Given the description of an element on the screen output the (x, y) to click on. 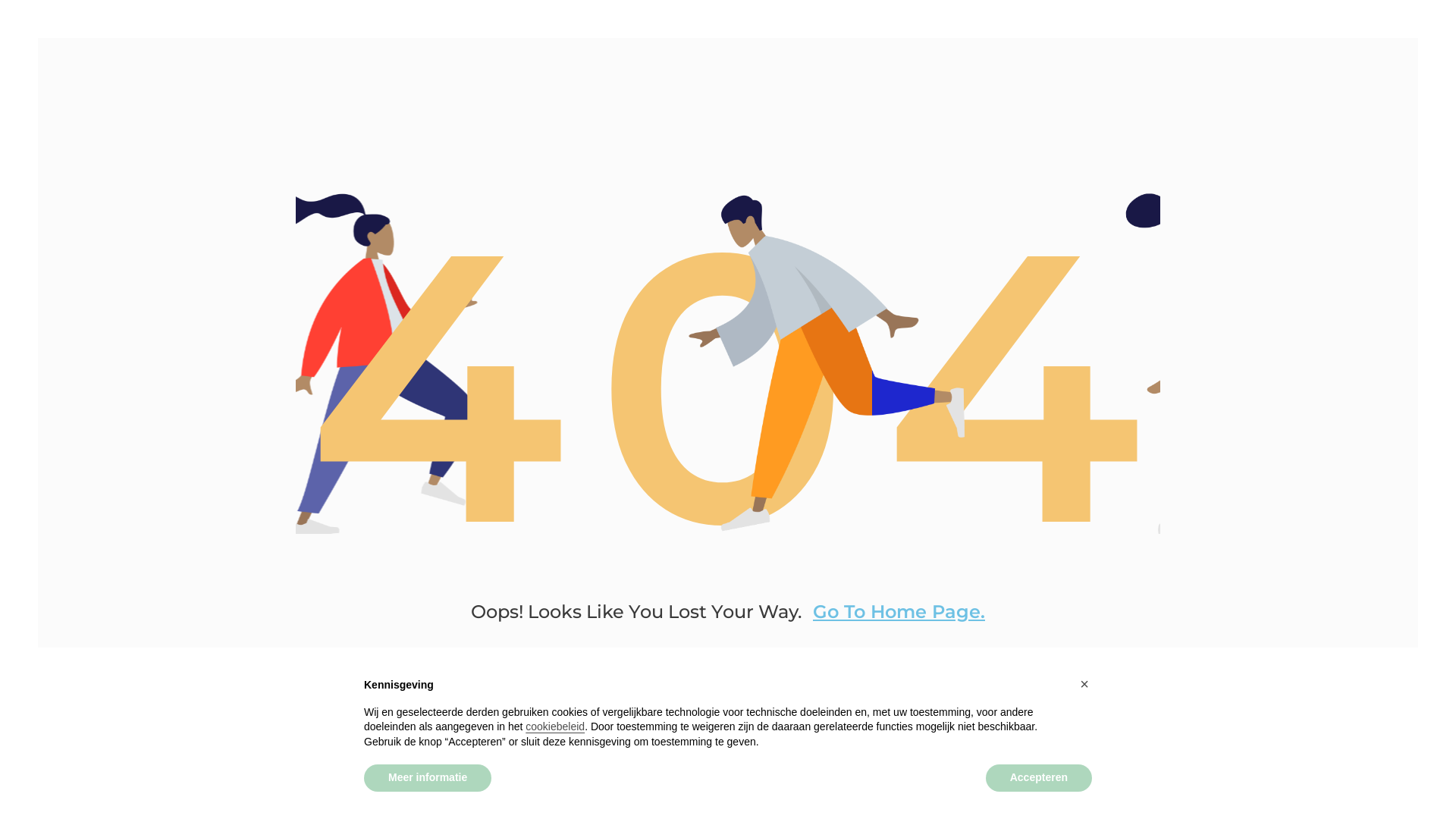
Go To Home Page. Element type: text (898, 611)
Accepteren Element type: text (1038, 777)
Meer informatie Element type: text (427, 777)
cookiebeleid Element type: text (554, 726)
